Given the description of an element on the screen output the (x, y) to click on. 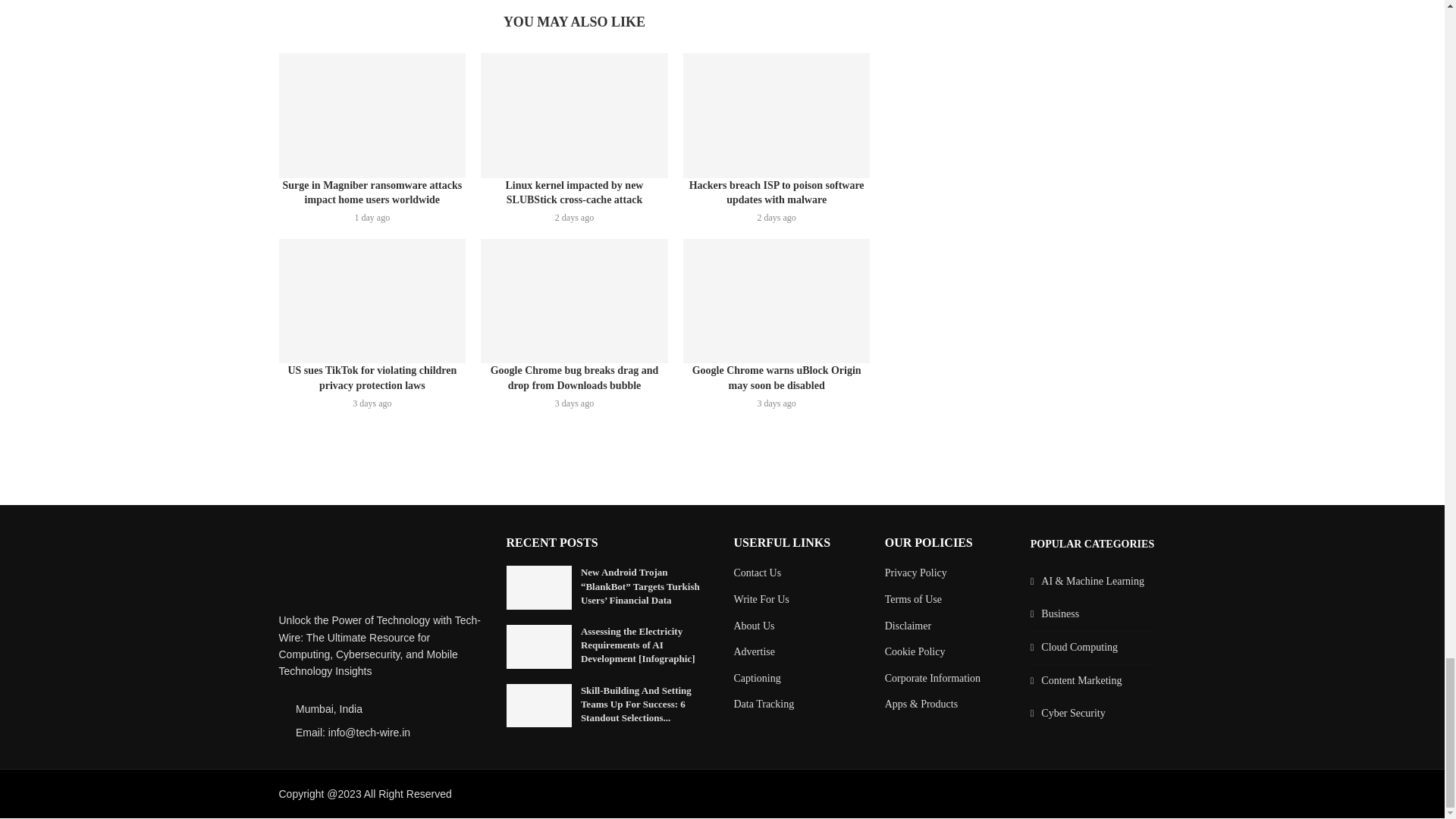
Hackers breach ISP to poison software updates with malware (776, 115)
Google Chrome bug breaks drag and drop from Downloads bubble (574, 301)
Linux kernel impacted by new SLUBStick cross-cache attack (574, 115)
Google Chrome warns uBlock Origin may soon be disabled (776, 301)
